Given the description of an element on the screen output the (x, y) to click on. 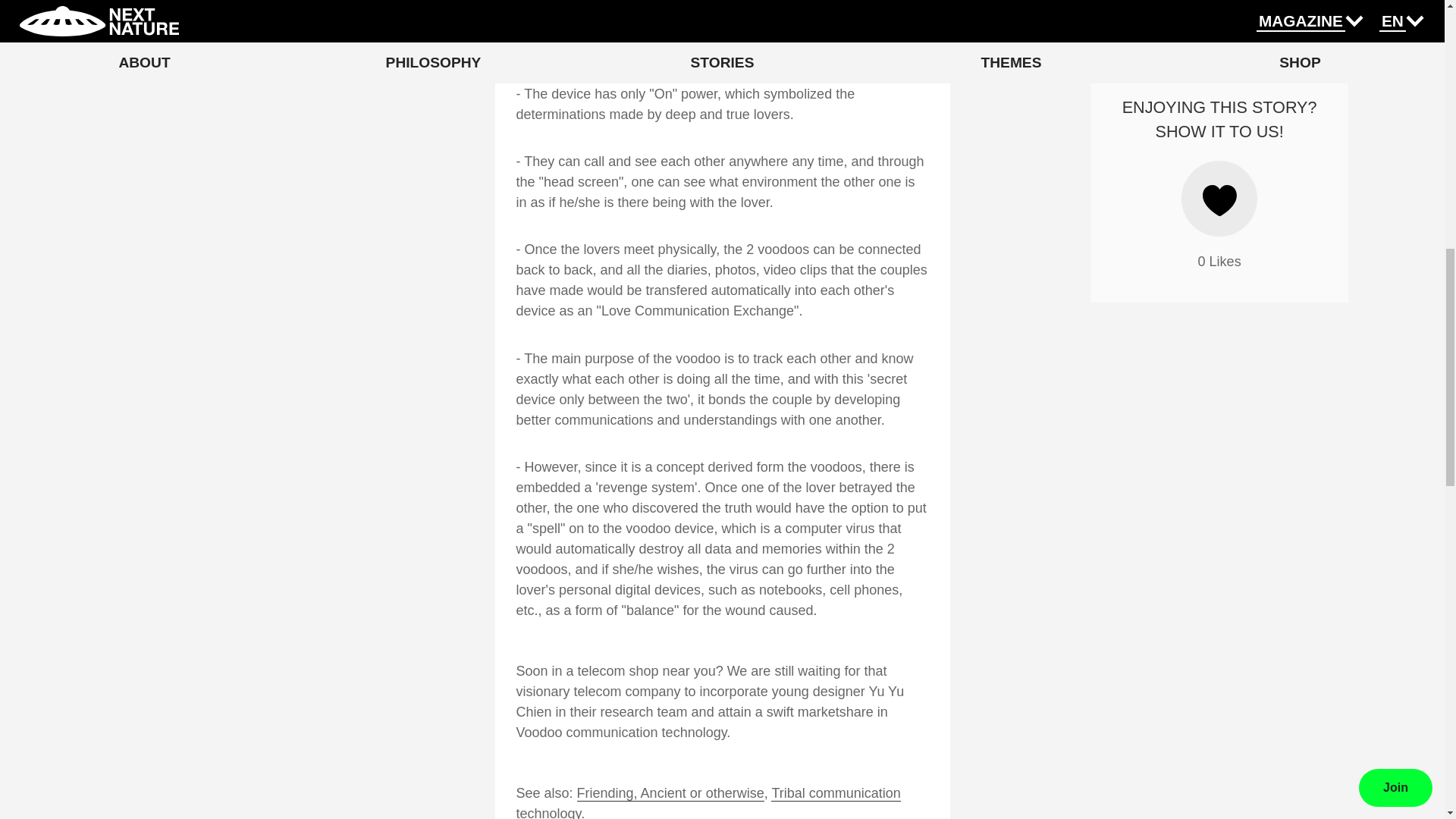
Friending, Ancient or otherwise (670, 793)
Friending, ancient or otherwise (670, 793)
Tribal communication technology (707, 802)
tribal communication technology (707, 802)
